Given the description of an element on the screen output the (x, y) to click on. 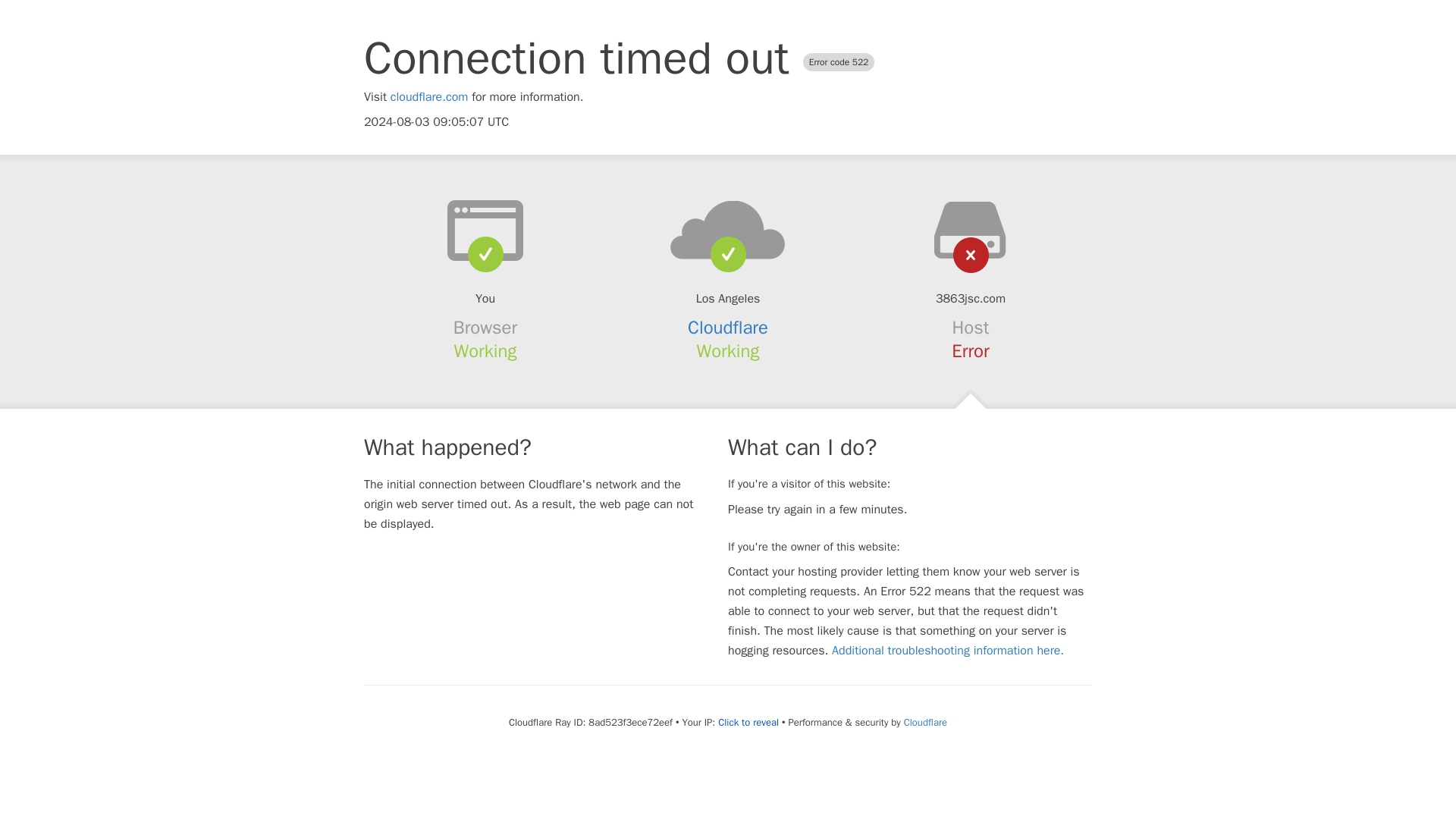
Cloudflare (727, 327)
Additional troubleshooting information here. (947, 650)
Click to reveal (747, 722)
cloudflare.com (429, 96)
Cloudflare (925, 721)
